Given the description of an element on the screen output the (x, y) to click on. 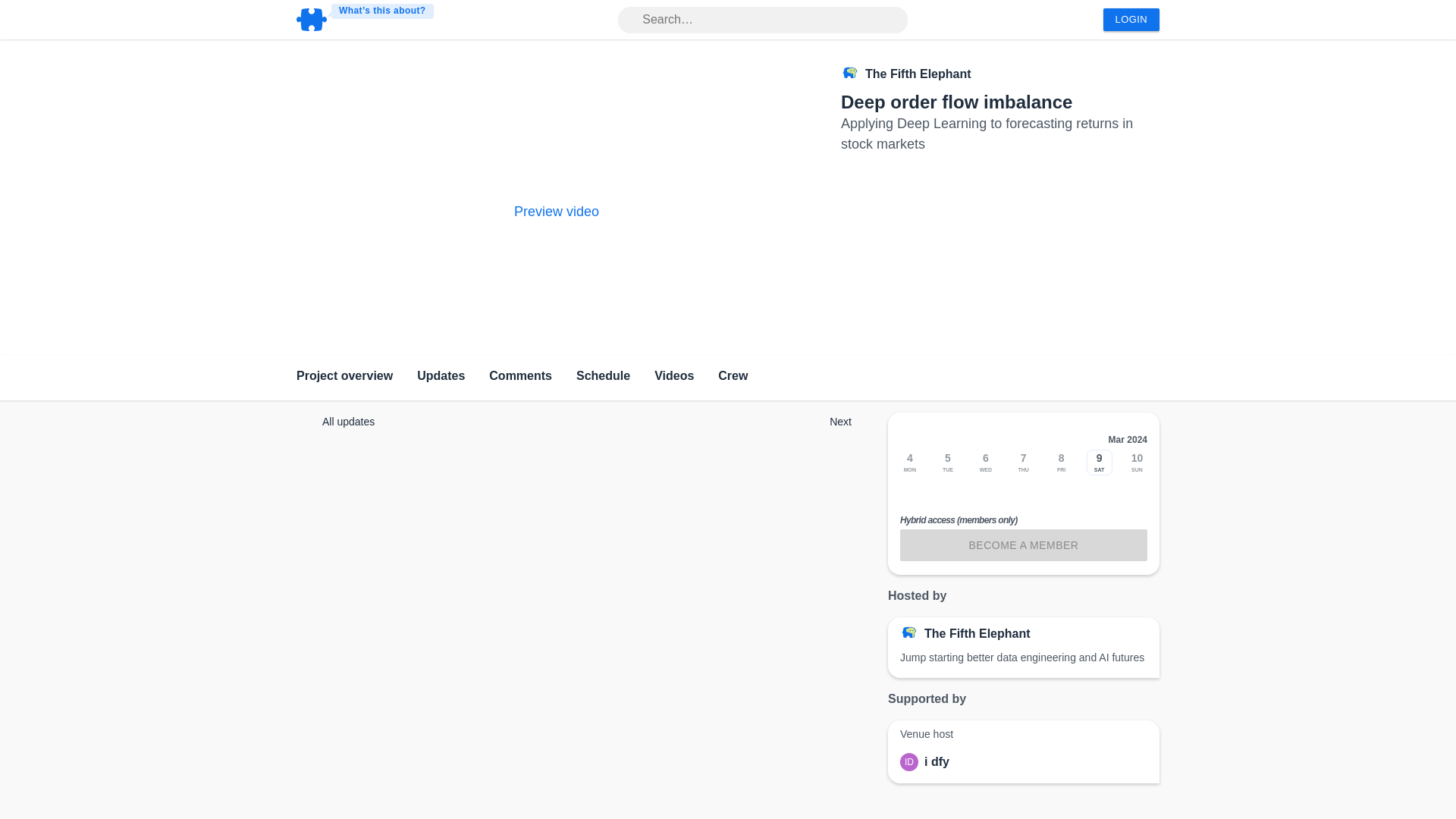
Comments (520, 377)
All updates (341, 421)
Updates (440, 377)
ID (911, 761)
Project overview (345, 377)
LOGIN (1130, 19)
The Fifth Elephant (977, 633)
i dfy (936, 761)
Next (832, 421)
Preview video (555, 211)
